Given the description of an element on the screen output the (x, y) to click on. 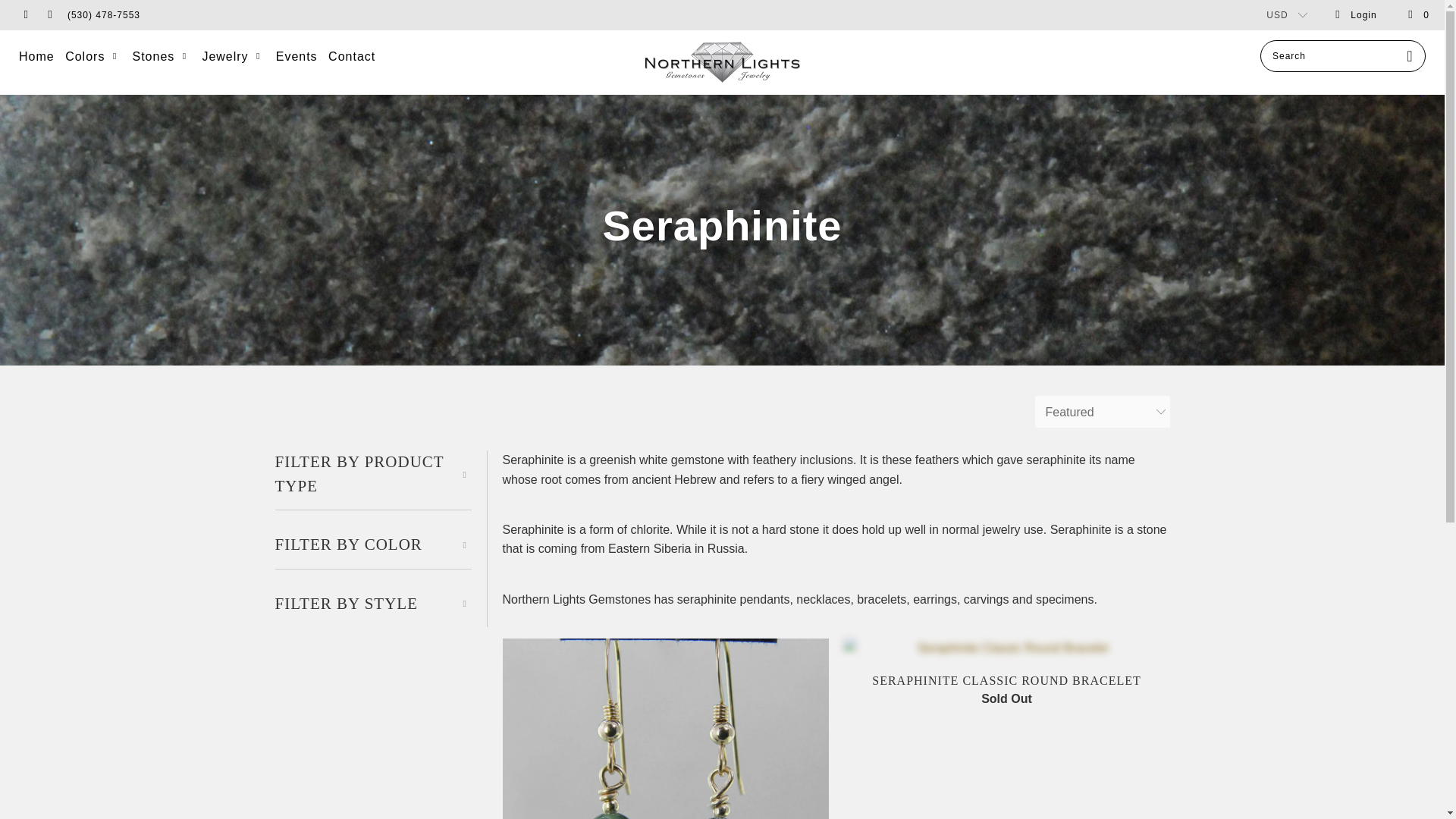
Northern Lights (722, 62)
Northern Lights on Pinterest (49, 14)
My Account  (1355, 15)
Northern Lights on Facebook (25, 14)
